Given the description of an element on the screen output the (x, y) to click on. 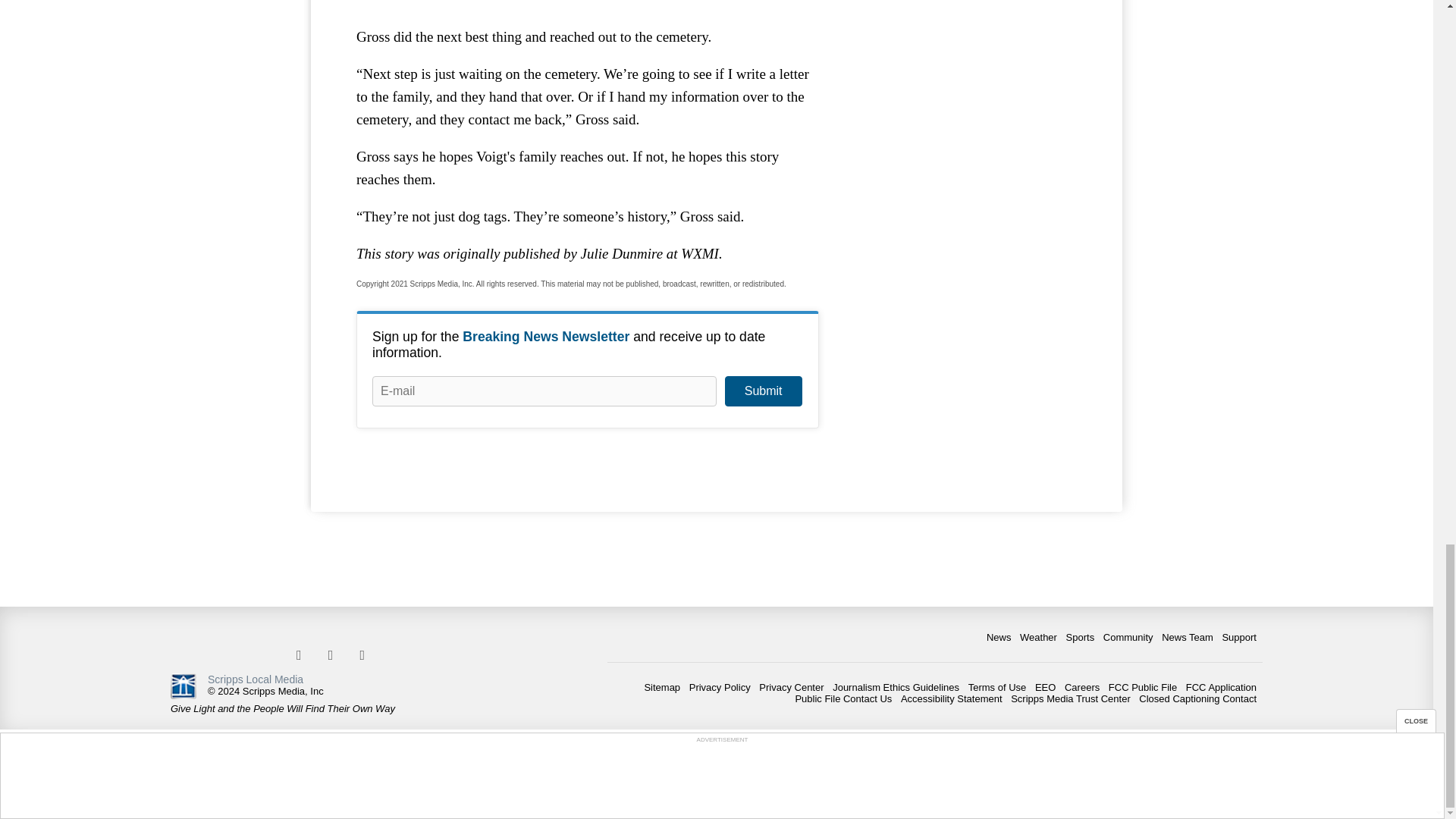
Submit (763, 390)
